Given the description of an element on the screen output the (x, y) to click on. 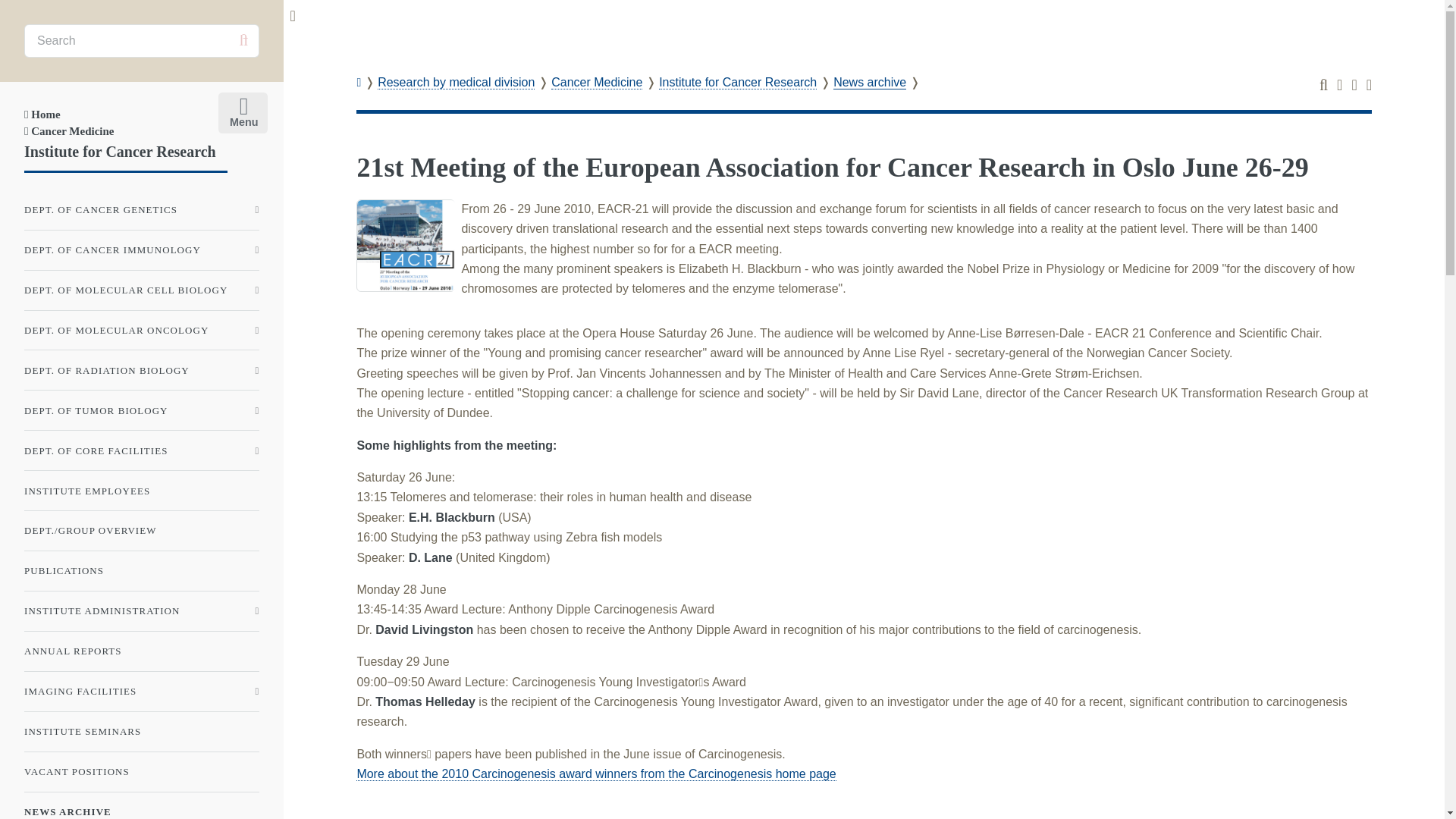
News archive (868, 82)
Institute for Cancer Research (737, 82)
DEPT. OF MOLECULAR ONCOLOGY (141, 330)
INSTITUTE EMPLOYEES (141, 490)
ANNUAL REPORTS (141, 651)
IMAGING FACILITIES (141, 691)
Search (243, 40)
DEPT. OF RADIATION BIOLOGY (141, 370)
DEPT. OF TUMOR BIOLOGY (141, 410)
NEWS ARCHIVE (141, 808)
DEPT. OF CANCER IMMUNOLOGY (141, 249)
OUH - News archive (479, 33)
Institute for Cancer Research (119, 151)
PUBLICATIONS (141, 570)
INSTITUTE SEMINARS (141, 731)
